Given the description of an element on the screen output the (x, y) to click on. 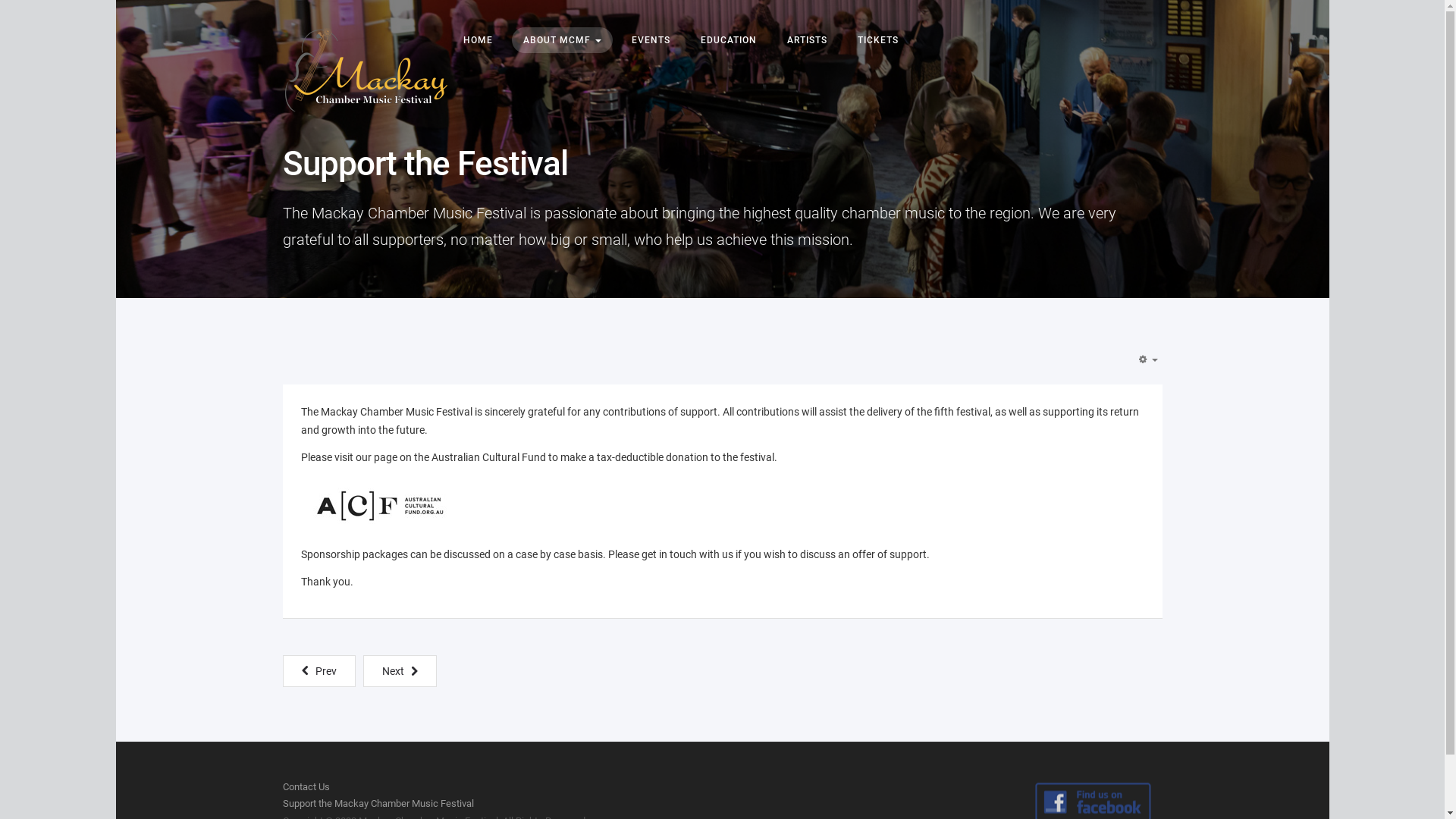
TICKETS Element type: text (878, 40)
EDUCATION Element type: text (727, 40)
EVENTS Element type: text (650, 40)
Support the Mackay Chamber Music Festival Element type: text (377, 803)
Contact Us Element type: text (305, 786)
Next Element type: text (399, 671)
Prev Element type: text (318, 671)
HOME Element type: text (477, 40)
ARTISTS Element type: text (806, 40)
ABOUT MCMF Element type: text (561, 40)
Mackay Chamber Music Festival Element type: hover (365, 69)
